Given the description of an element on the screen output the (x, y) to click on. 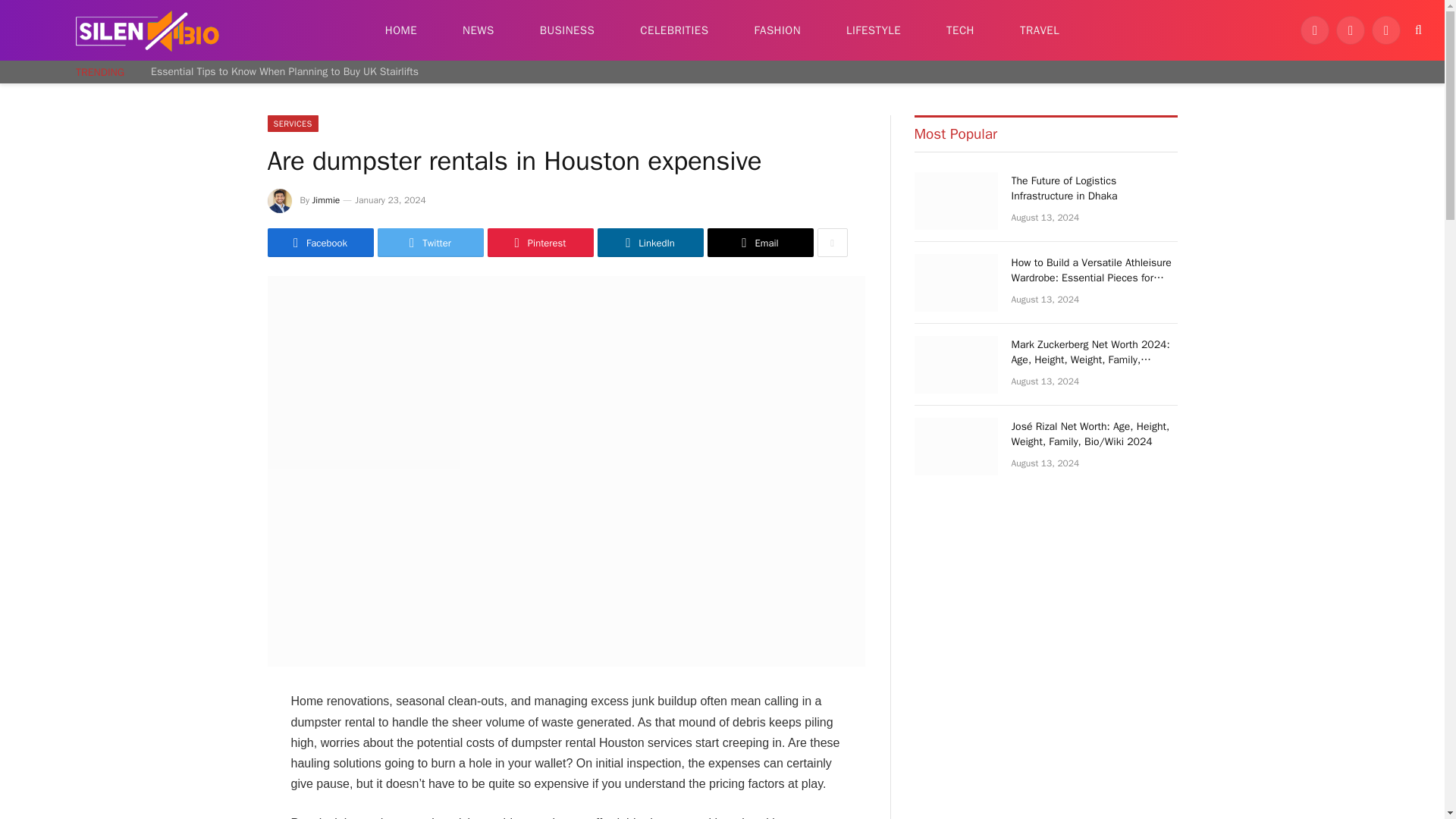
Share on Twitter (430, 242)
BUSINESS (566, 30)
Essential Tips to Know When Planning to Buy UK Stairlifts (288, 71)
Twitter (1350, 30)
SilentBio (146, 30)
Pinterest (539, 242)
SERVICES (291, 123)
TRAVEL (1039, 30)
FASHION (777, 30)
NEWS (477, 30)
